Given the description of an element on the screen output the (x, y) to click on. 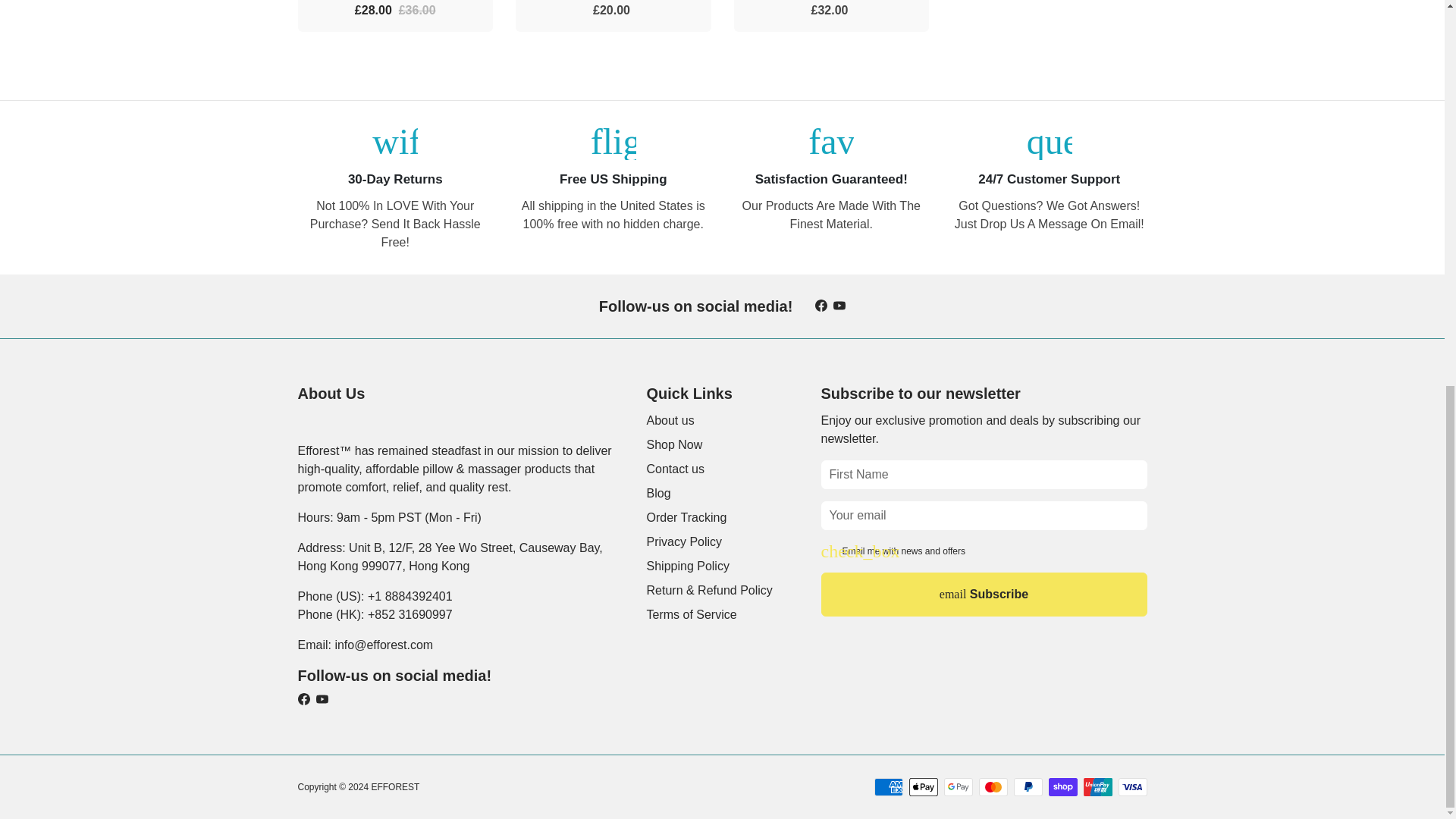
Mastercard (992, 787)
Google Pay (957, 787)
American Express (887, 787)
Apple Pay (922, 787)
PayPal (1027, 787)
Shop Pay (1062, 787)
EFFOREST on Facebook (821, 305)
EFFOREST on Youtube (838, 305)
Union Pay (1097, 787)
Visa (1132, 787)
